Given the description of an element on the screen output the (x, y) to click on. 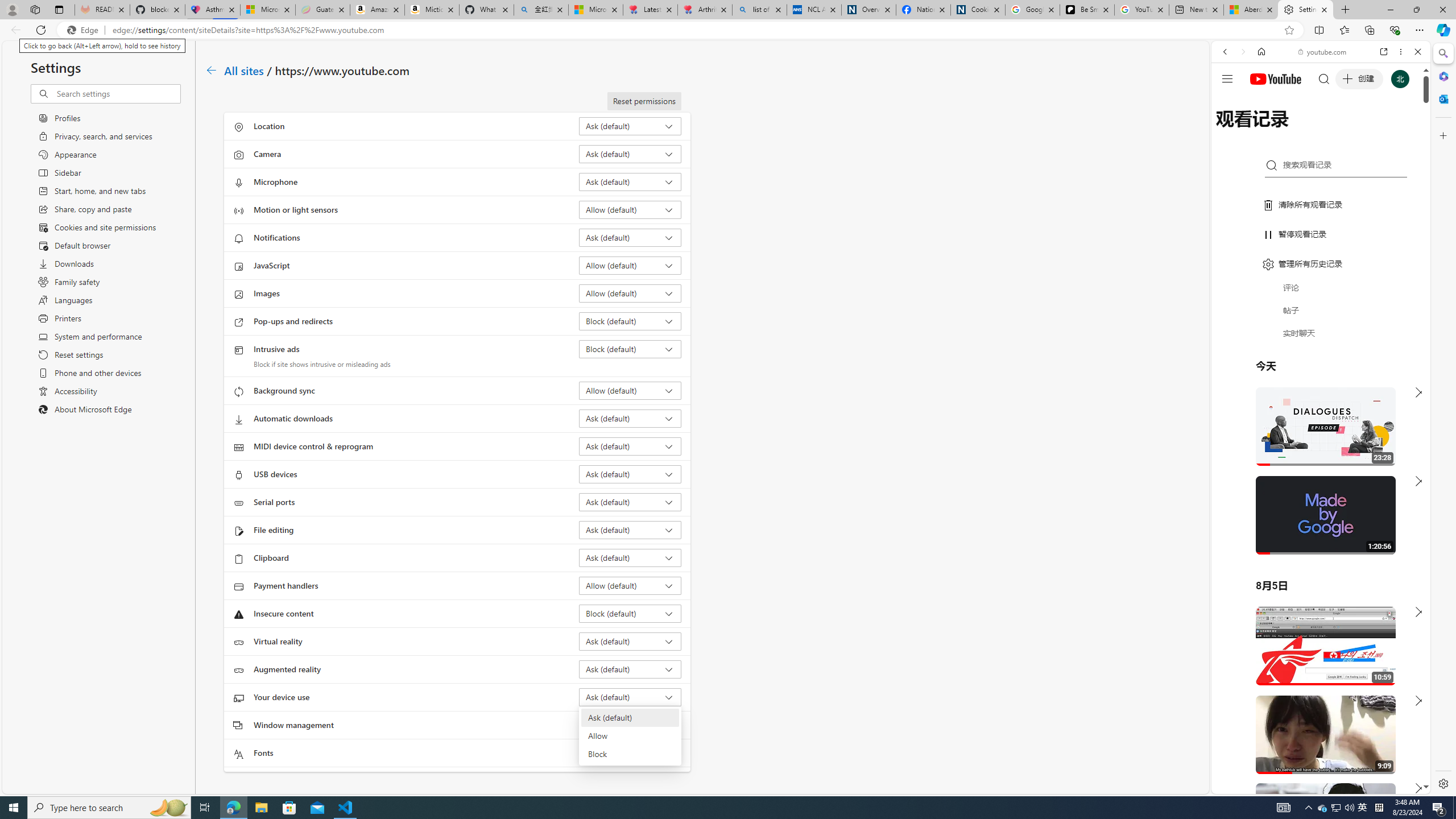
IMAGES (1262, 130)
Search the web (1326, 78)
Class: b_serphb (1404, 130)
Click to scroll right (1407, 456)
#you (1320, 253)
Edge (84, 29)
Google (1320, 281)
Background sync Allow (default) (630, 390)
Close Customize pane (1442, 135)
